Given the description of an element on the screen output the (x, y) to click on. 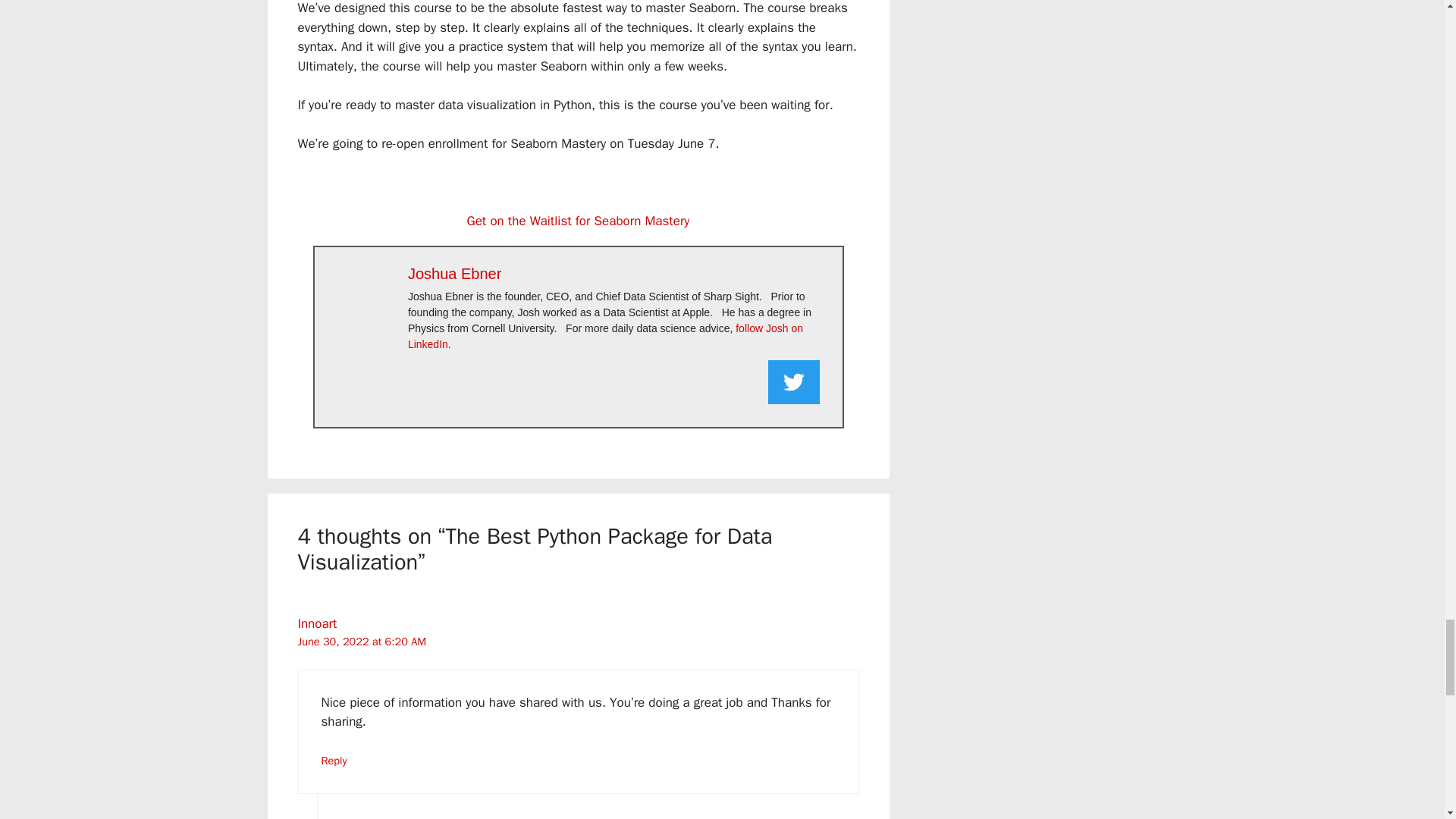
Reply (334, 760)
follow Josh on LinkedIn (605, 336)
Get on the Waitlist for Seaborn Mastery (578, 220)
Innoart (316, 623)
Joshua Ebner (453, 273)
June 30, 2022 at 6:20 AM (361, 641)
